Given the description of an element on the screen output the (x, y) to click on. 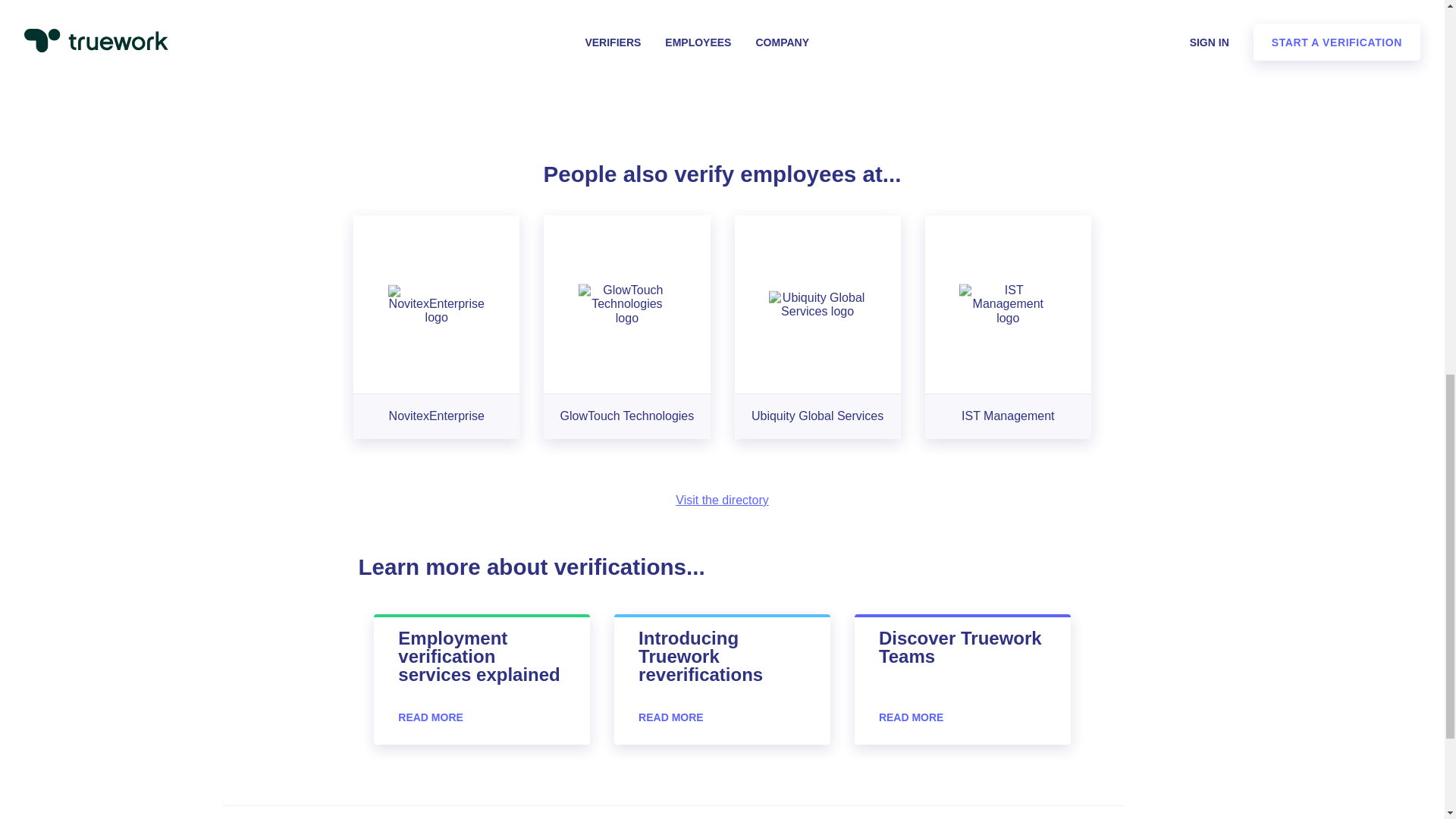
Visit the directory (721, 499)
